Given the description of an element on the screen output the (x, y) to click on. 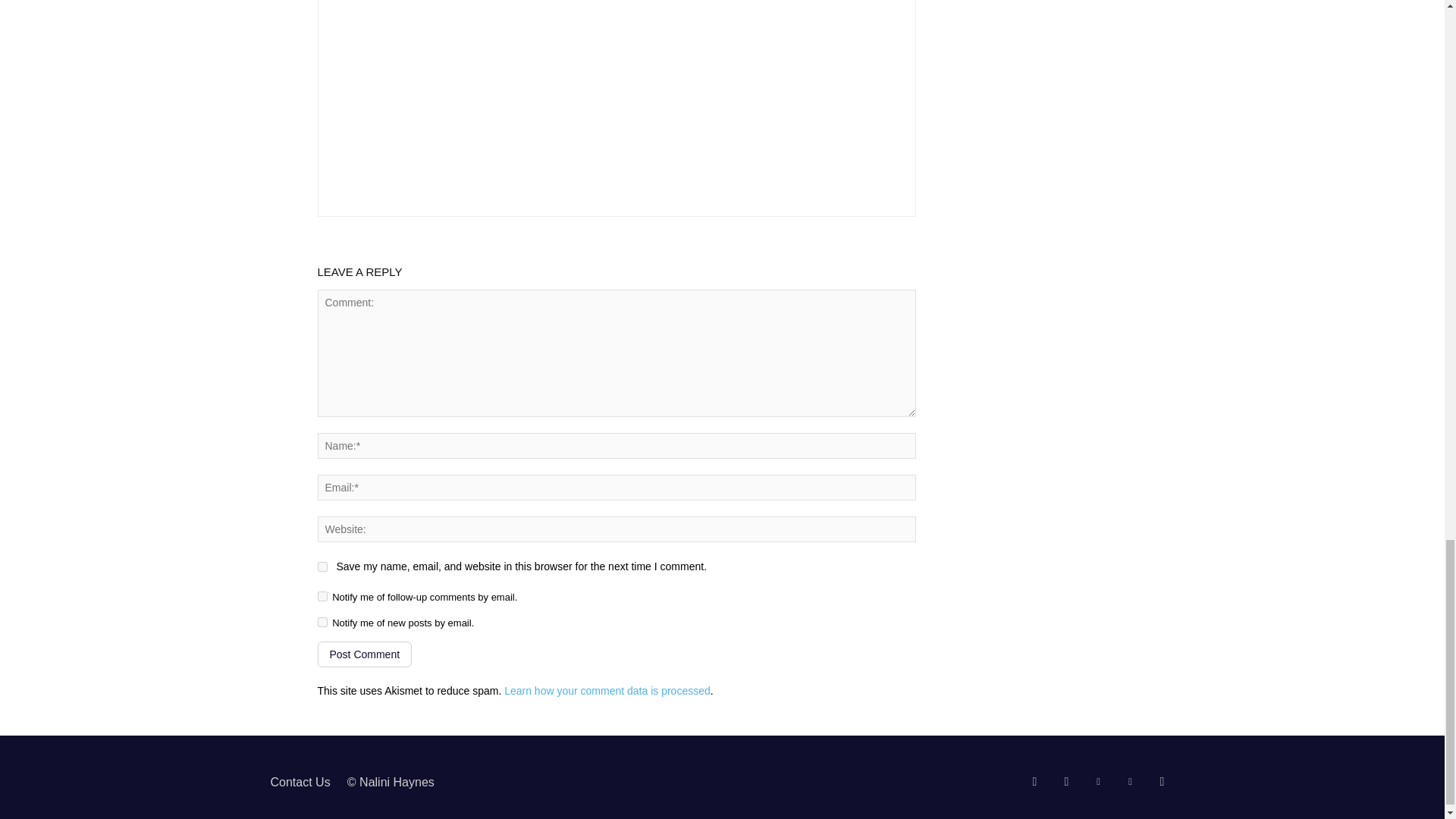
subscribe (321, 622)
subscribe (321, 596)
Post Comment (364, 654)
yes (321, 566)
